Given the description of an element on the screen output the (x, y) to click on. 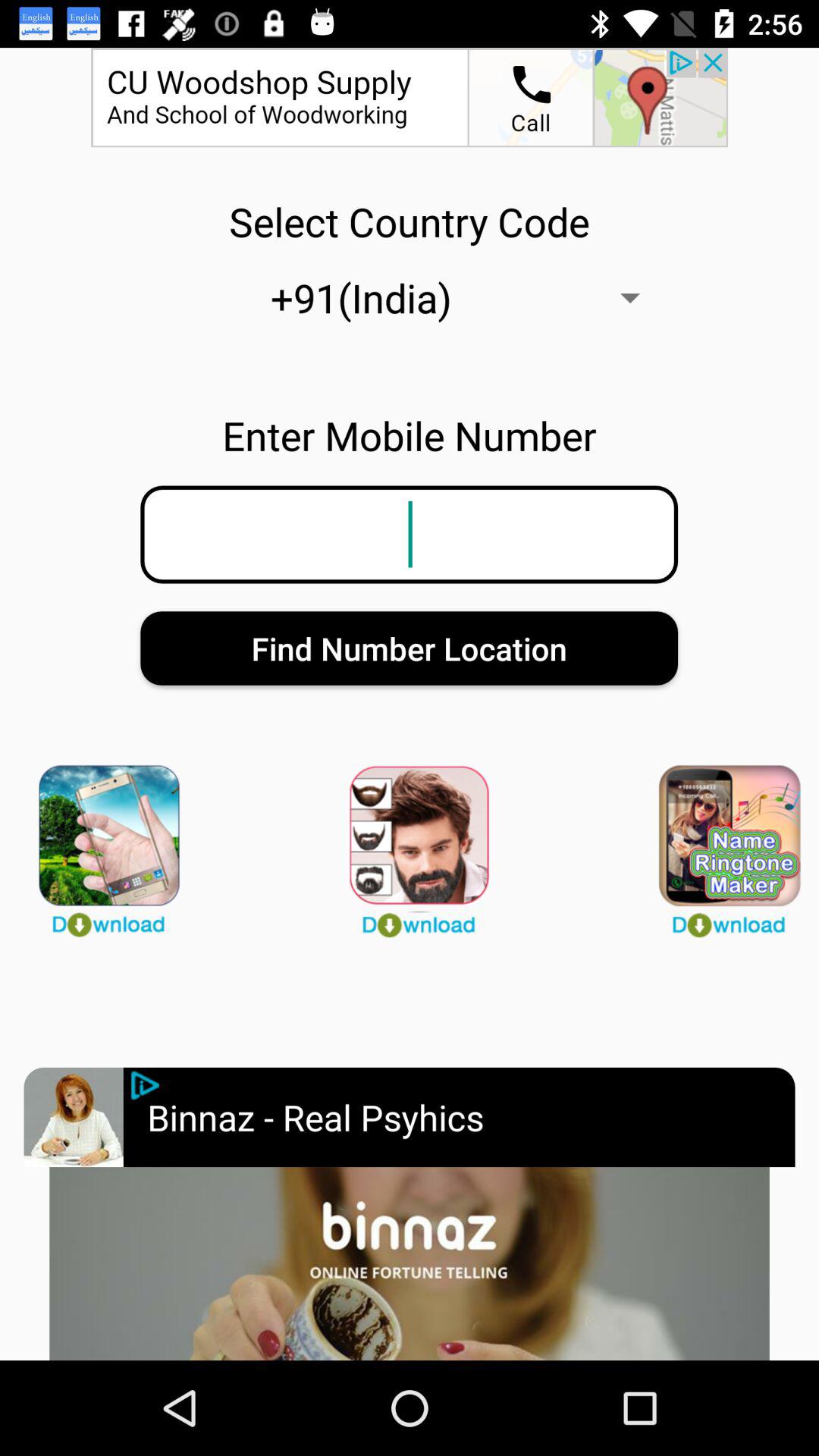
games (719, 844)
